Given the description of an element on the screen output the (x, y) to click on. 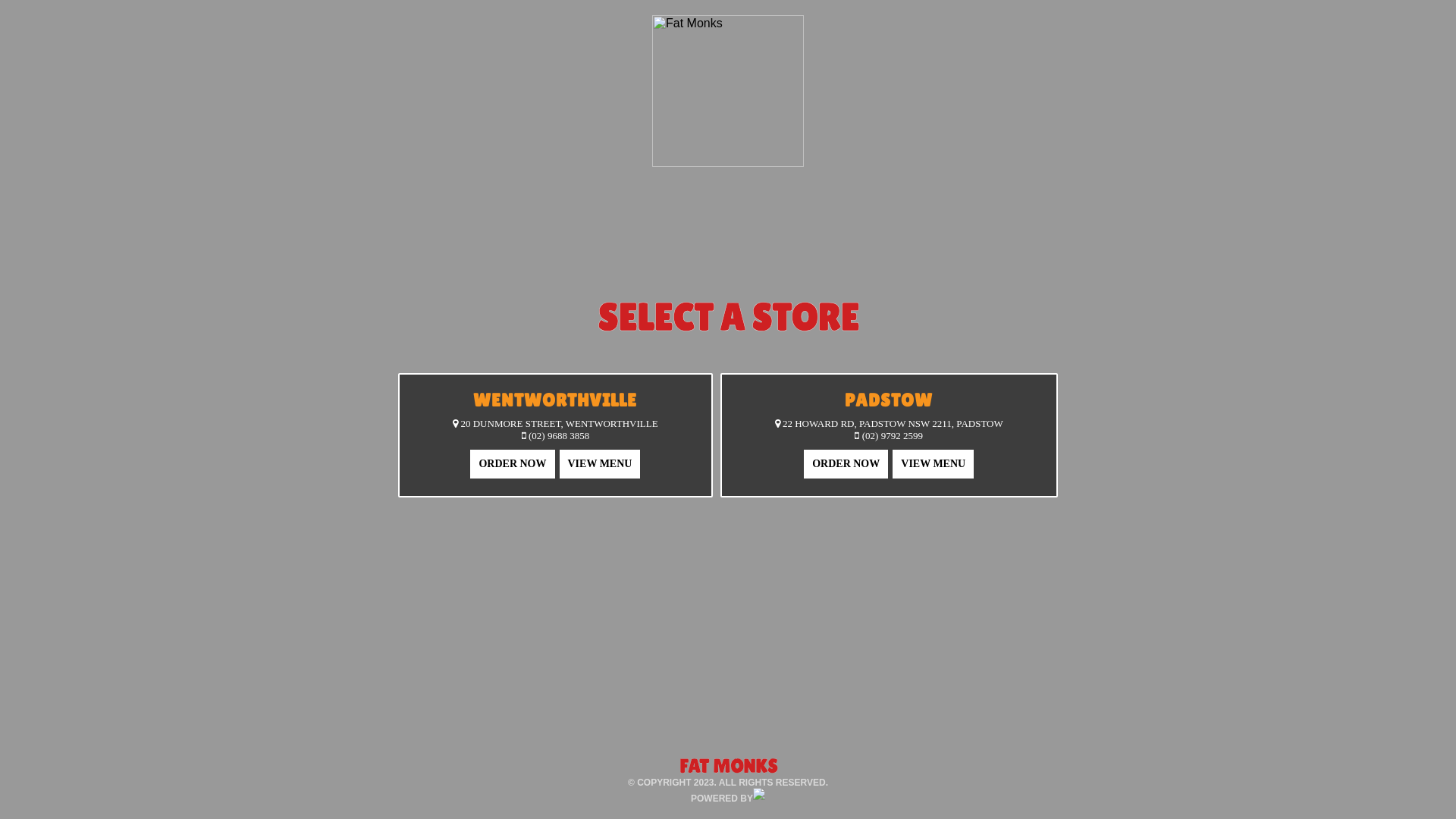
VIEW MENU Element type: text (599, 461)
Fat Monks Element type: hover (727, 90)
ORDER NOW Element type: text (511, 461)
VIEW MENU Element type: text (932, 461)
ORDER NOW Element type: text (512, 463)
VIEW MENU Element type: text (599, 463)
ORDER NOW Element type: text (845, 461)
VIEW MENU Element type: text (932, 463)
ORDER NOW Element type: text (845, 463)
